Given the description of an element on the screen output the (x, y) to click on. 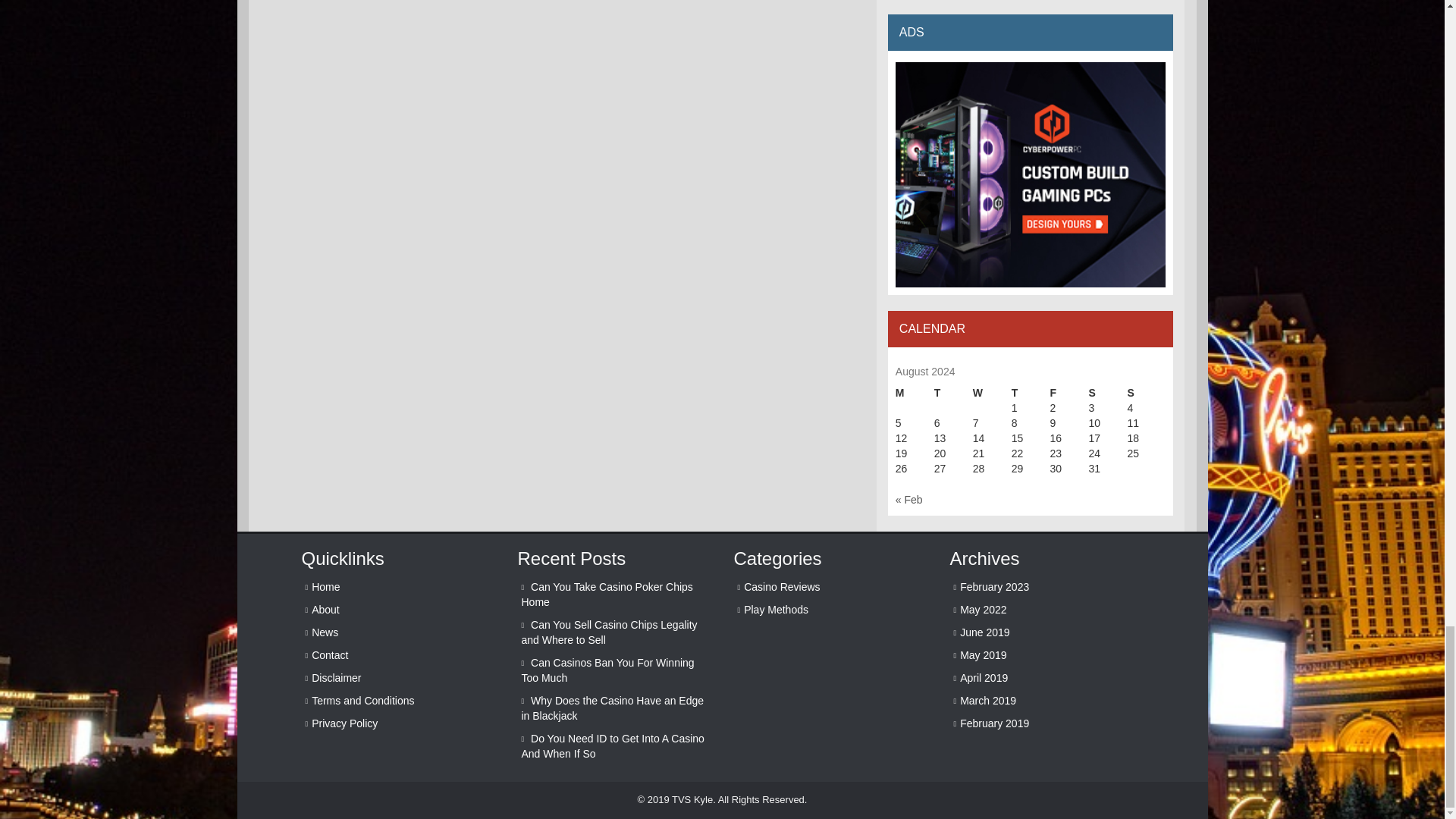
Friday (1069, 393)
Saturday (1107, 393)
Tuesday (953, 393)
Sunday (1146, 393)
Monday (914, 393)
Wednesday (991, 393)
Thursday (1030, 393)
